Given the description of an element on the screen output the (x, y) to click on. 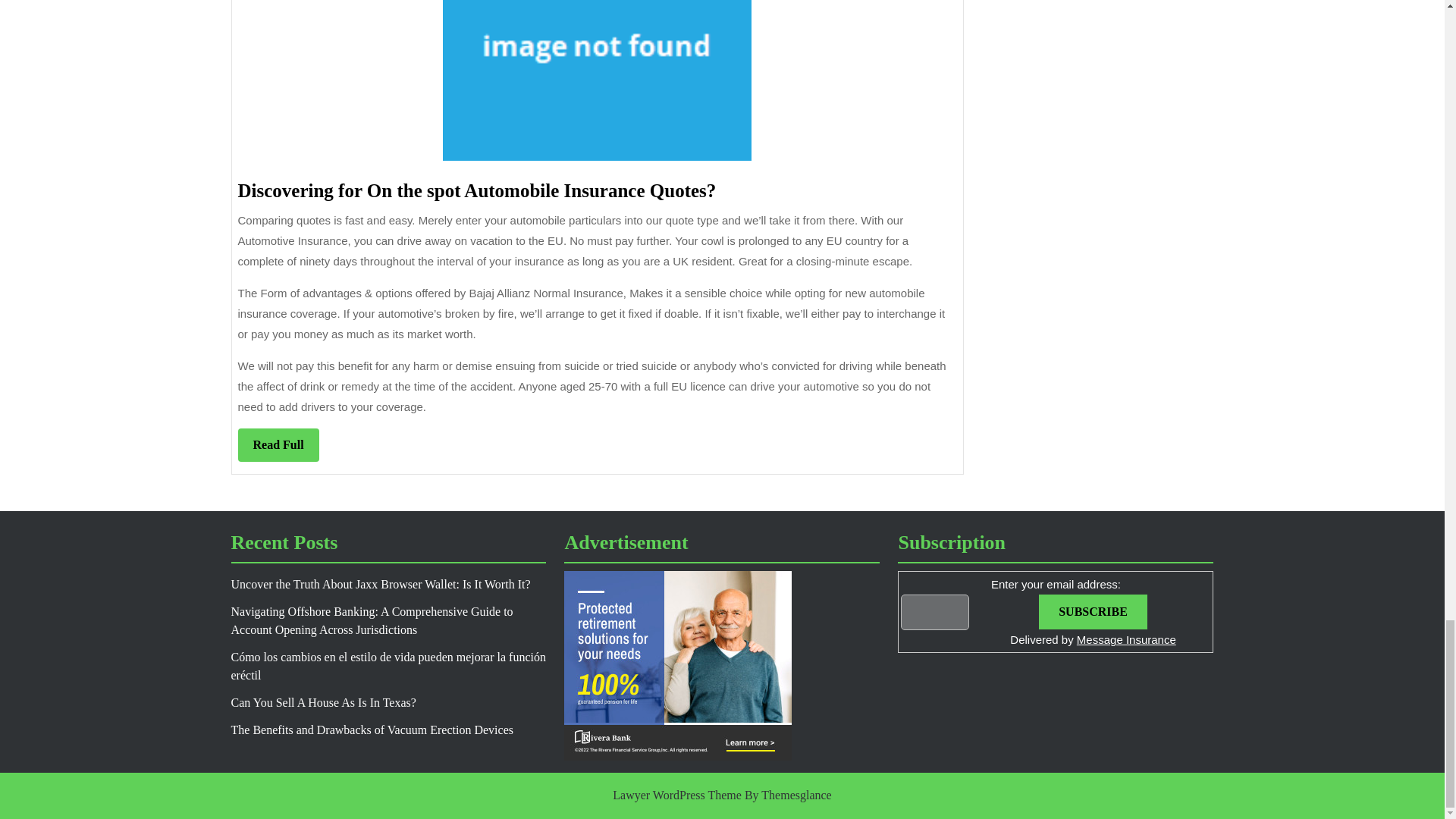
Subscribe (1093, 611)
